Given the description of an element on the screen output the (x, y) to click on. 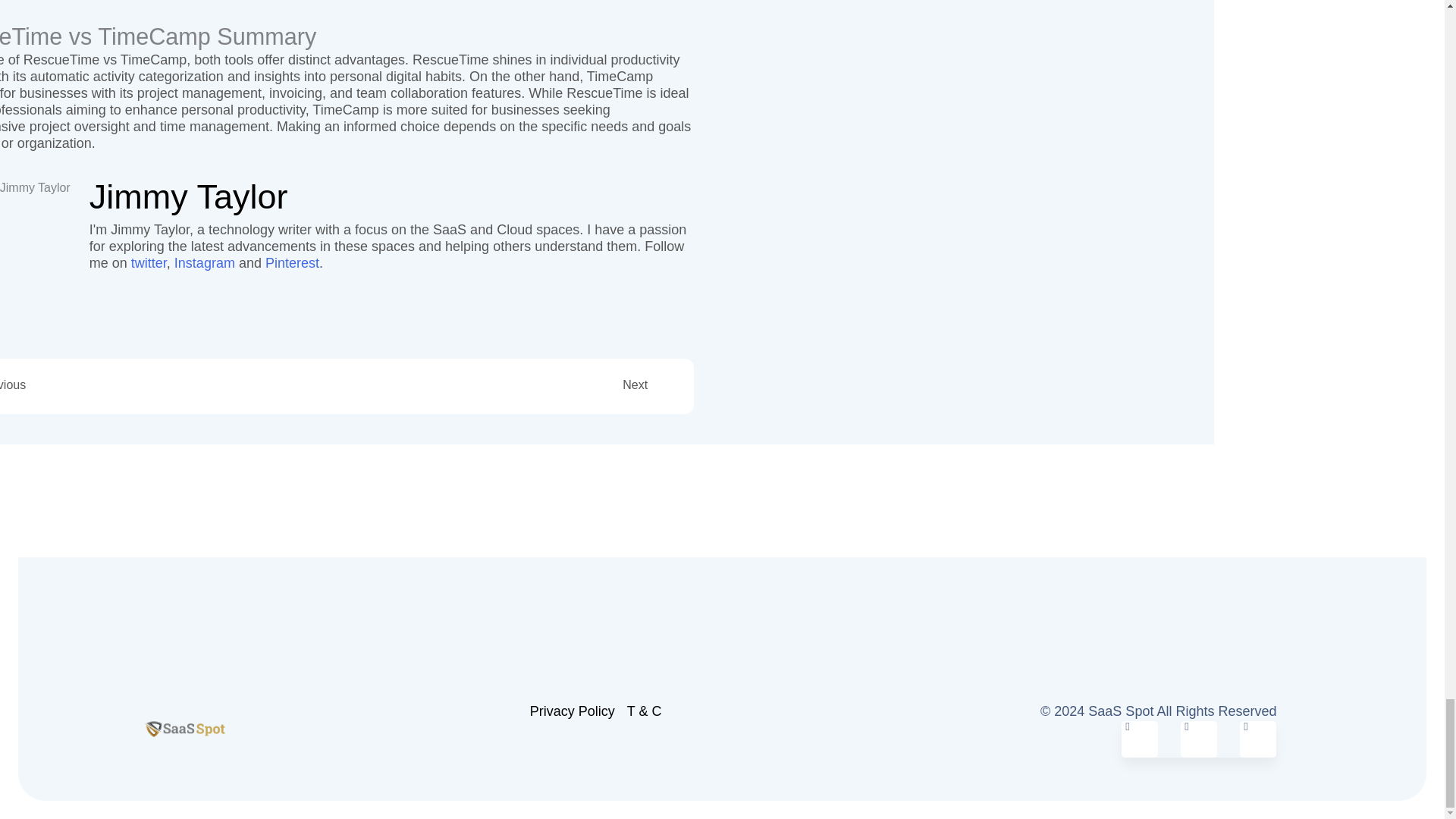
Twitter (1139, 739)
Privacy Policy (571, 711)
Next (480, 384)
Instagram (204, 263)
Instagram (1198, 739)
Previous (156, 384)
twitter (149, 263)
Pinterest (291, 263)
